Given the description of an element on the screen output the (x, y) to click on. 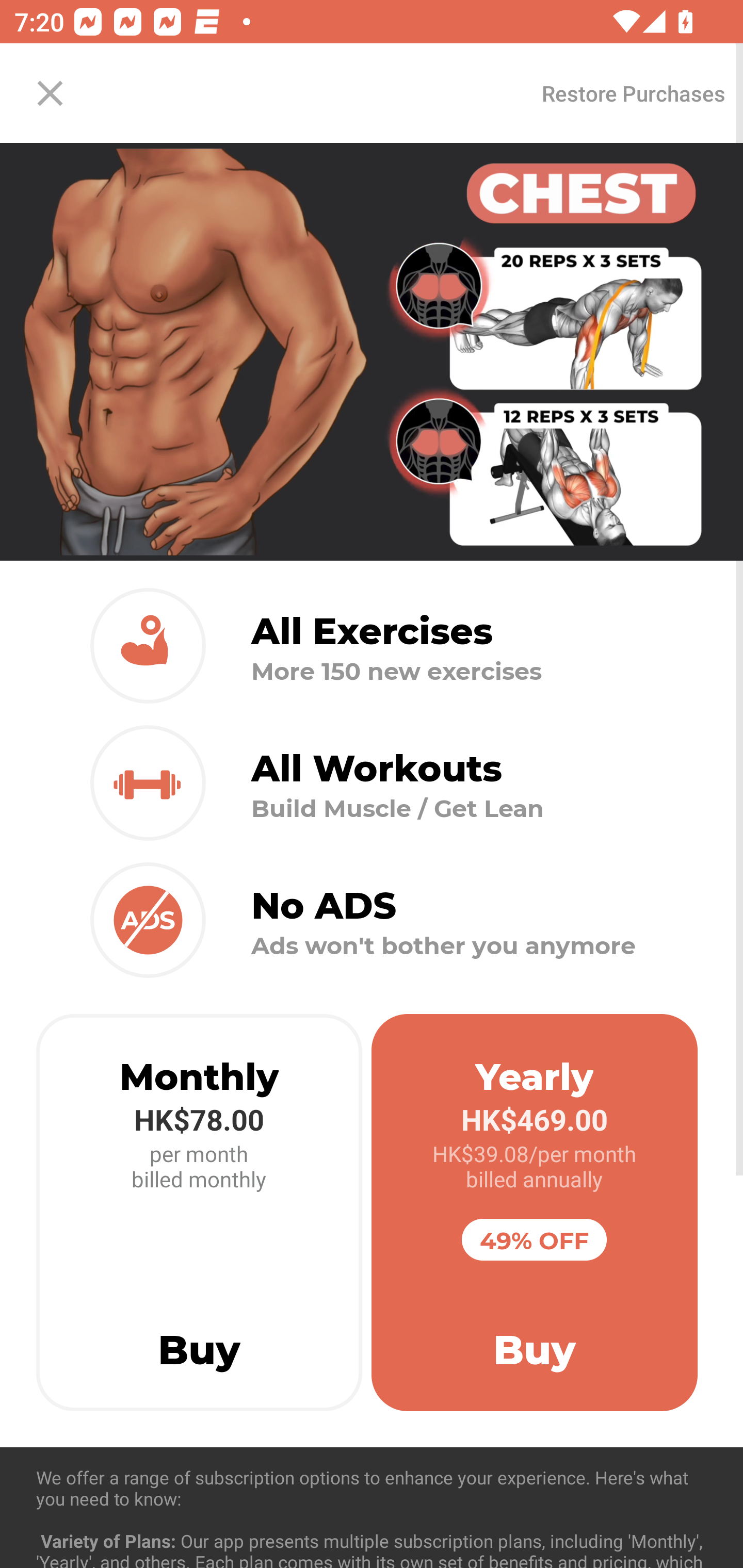
Restore Purchases (632, 92)
Monthly HK$78.00 per month
billed monthly Buy (199, 1212)
